Given the description of an element on the screen output the (x, y) to click on. 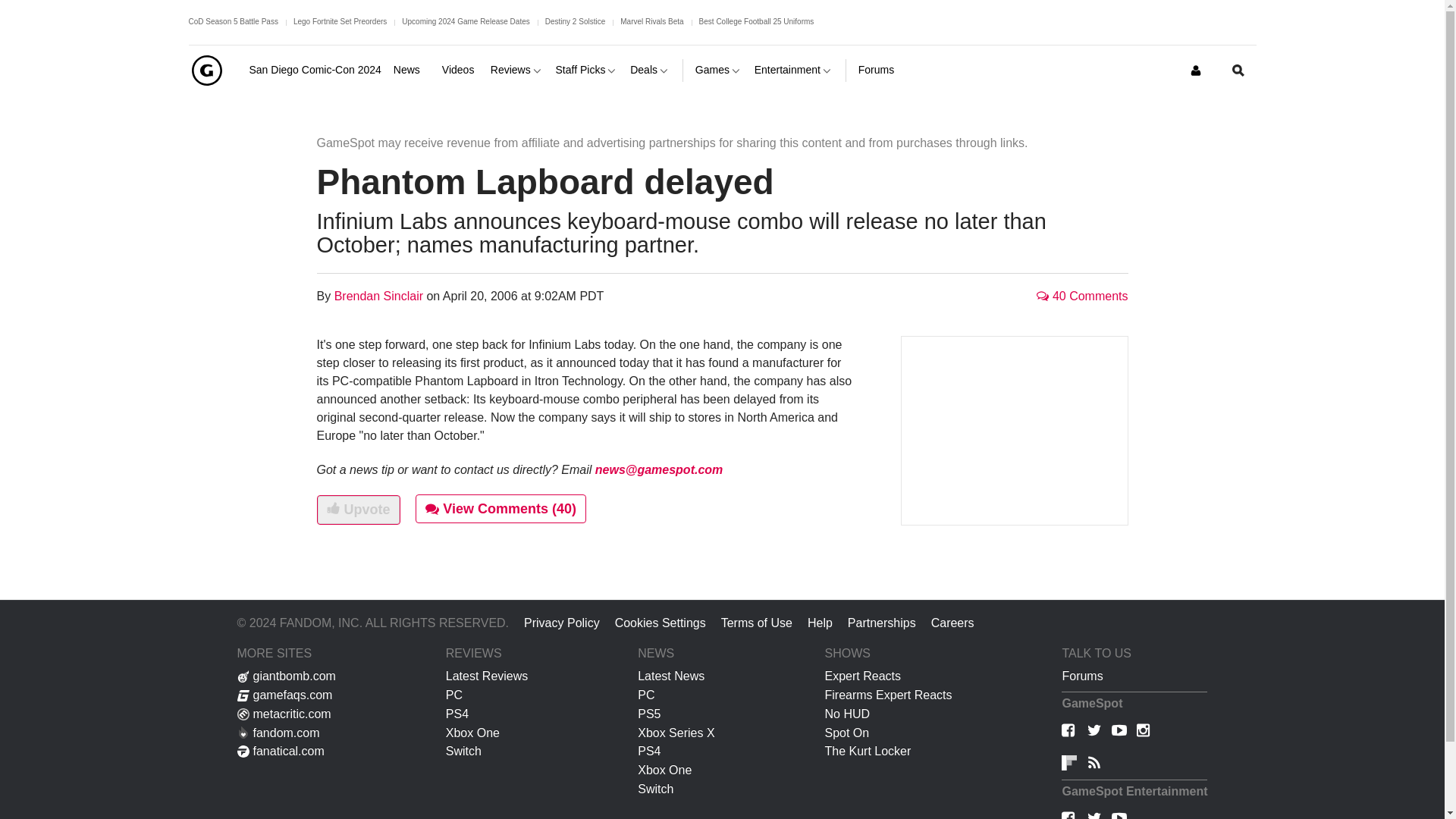
Marvel Rivals Beta (651, 21)
Deals (649, 70)
CoD Season 5 Battle Pass (232, 21)
Lego Fortnite Set Preorders (340, 21)
Staff Picks (587, 70)
Videos (460, 70)
GameSpot (205, 70)
News (411, 70)
Best College Football 25 Uniforms (755, 21)
Games (718, 70)
San Diego Comic-Con 2024 (314, 70)
Upcoming 2024 Game Release Dates (465, 21)
Destiny 2 Solstice (574, 21)
Reviews (516, 70)
